Given the description of an element on the screen output the (x, y) to click on. 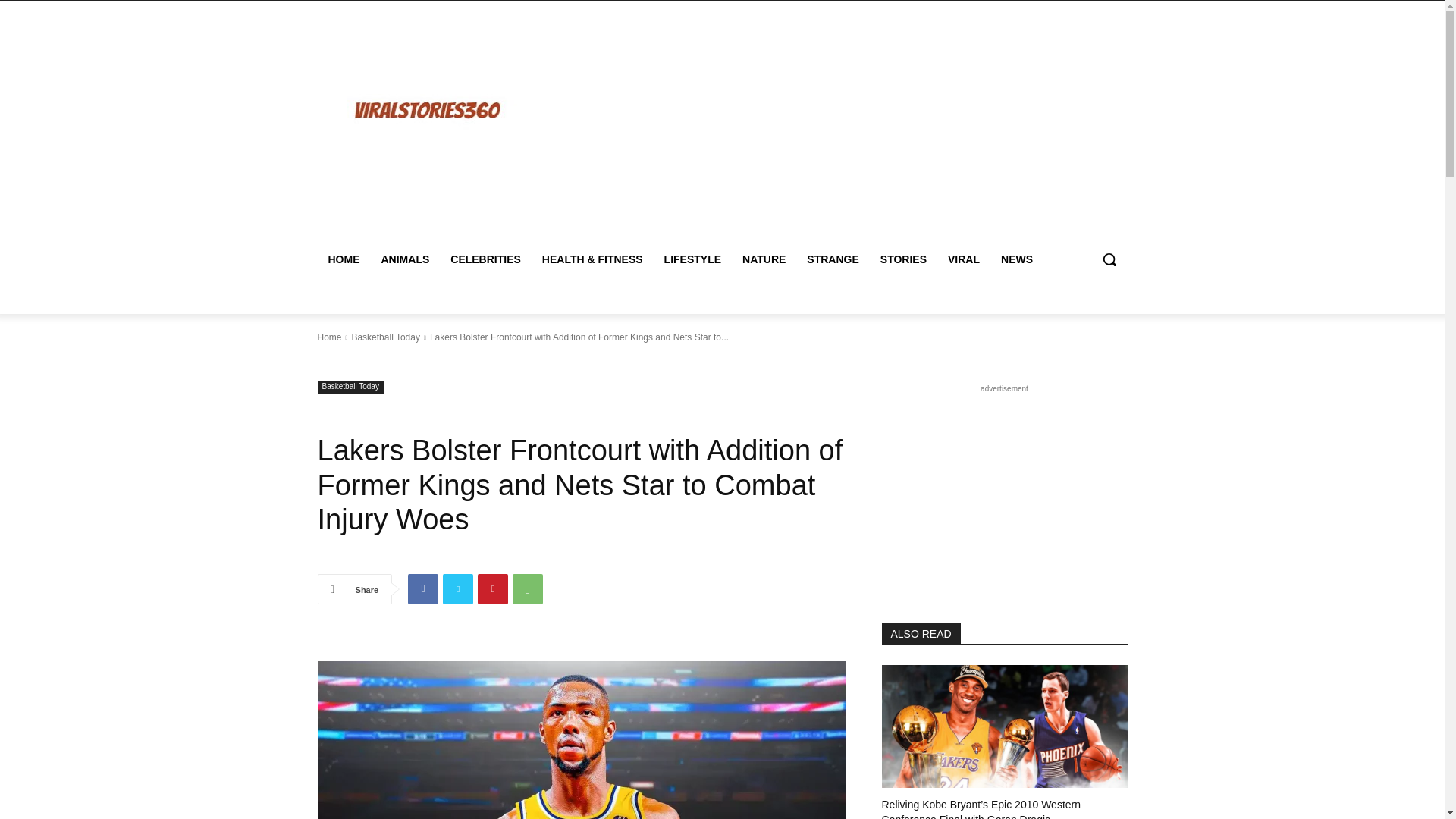
STORIES (903, 258)
CELEBRITIES (485, 258)
ANIMALS (404, 258)
Basketball Today (385, 337)
HOME (343, 258)
Basketball Today (349, 386)
NATURE (764, 258)
View all posts in Basketball Today (385, 337)
Facebook (422, 589)
NEWS (1016, 258)
STRANGE (832, 258)
VIRAL (963, 258)
Advertisement (854, 128)
Home (328, 337)
LIFESTYLE (692, 258)
